Given the description of an element on the screen output the (x, y) to click on. 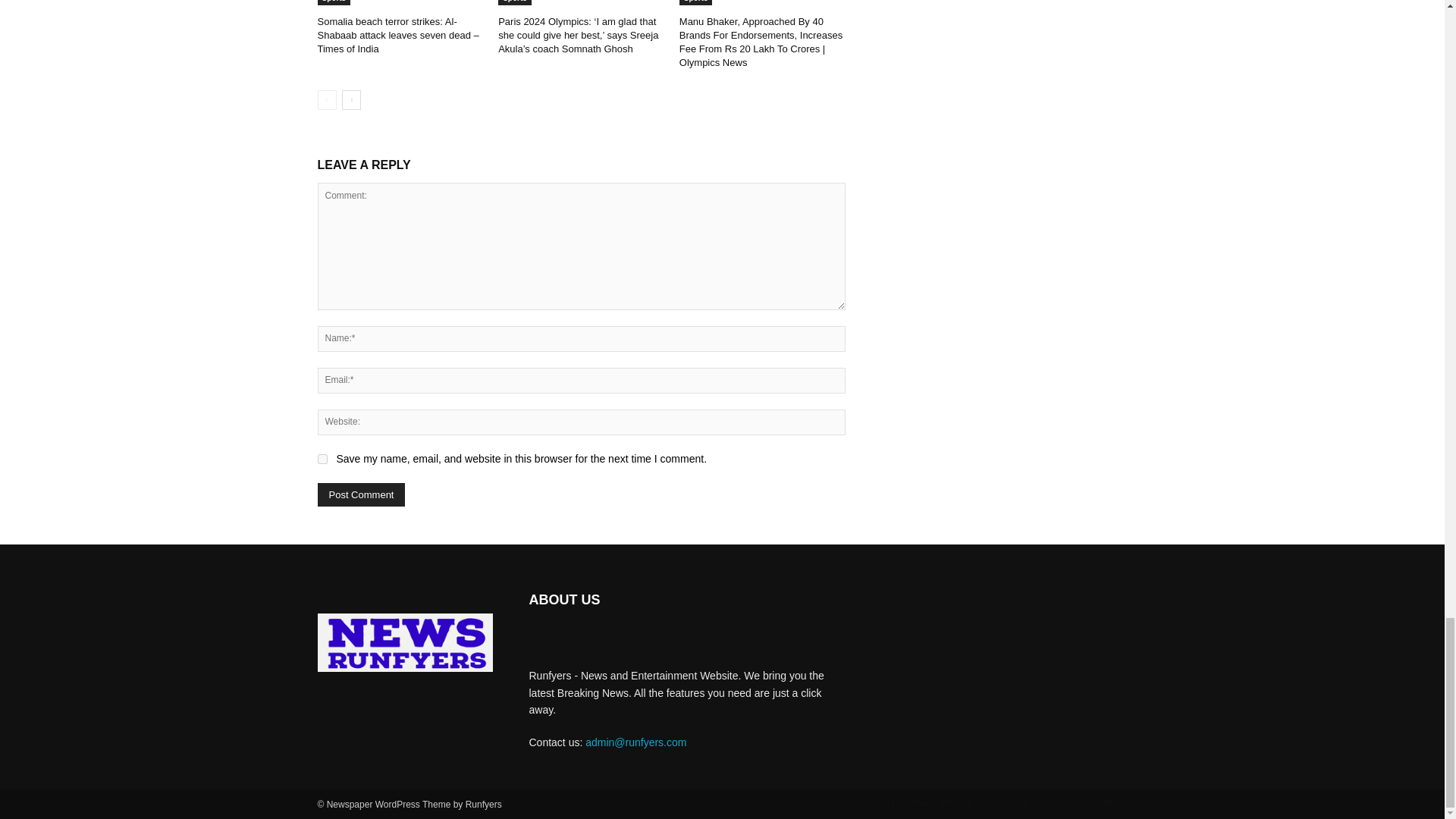
Post Comment (360, 494)
yes (321, 459)
